Given the description of an element on the screen output the (x, y) to click on. 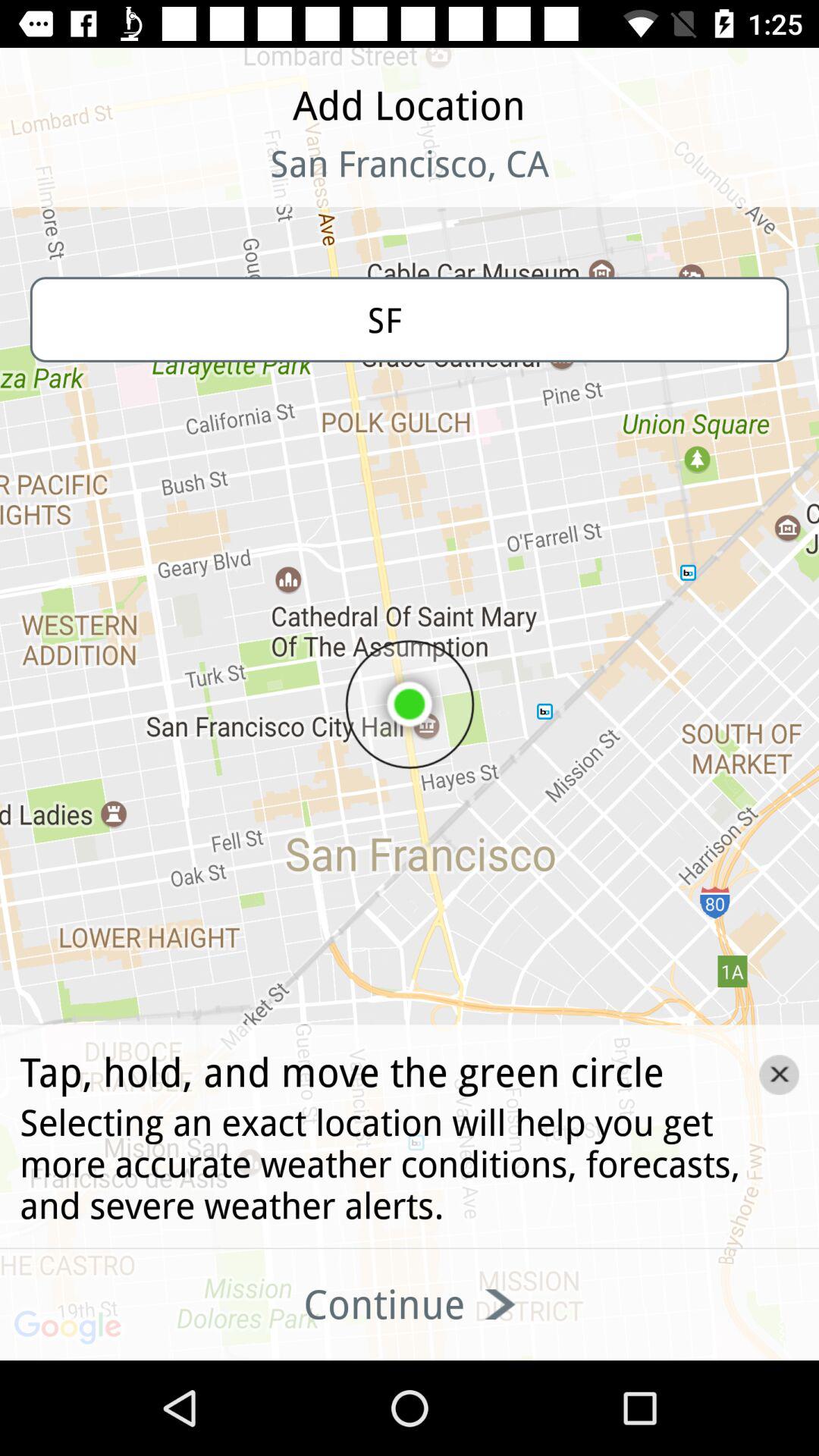
turn off the item below the sf (779, 1074)
